Given the description of an element on the screen output the (x, y) to click on. 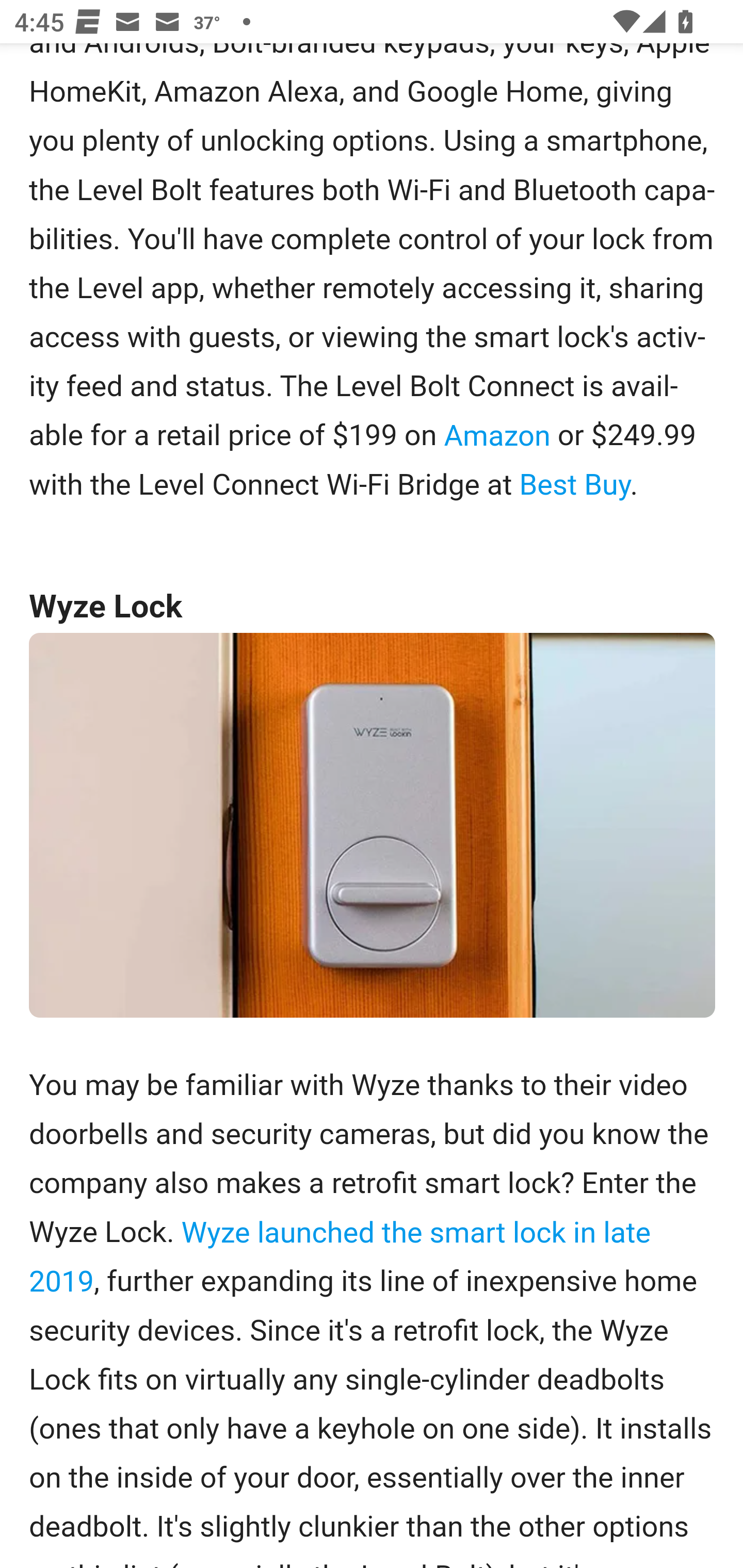
Amazon (496, 433)
Best Buy (574, 485)
Wyze launched the smart lock in late 2019 (339, 1256)
